Given the description of an element on the screen output the (x, y) to click on. 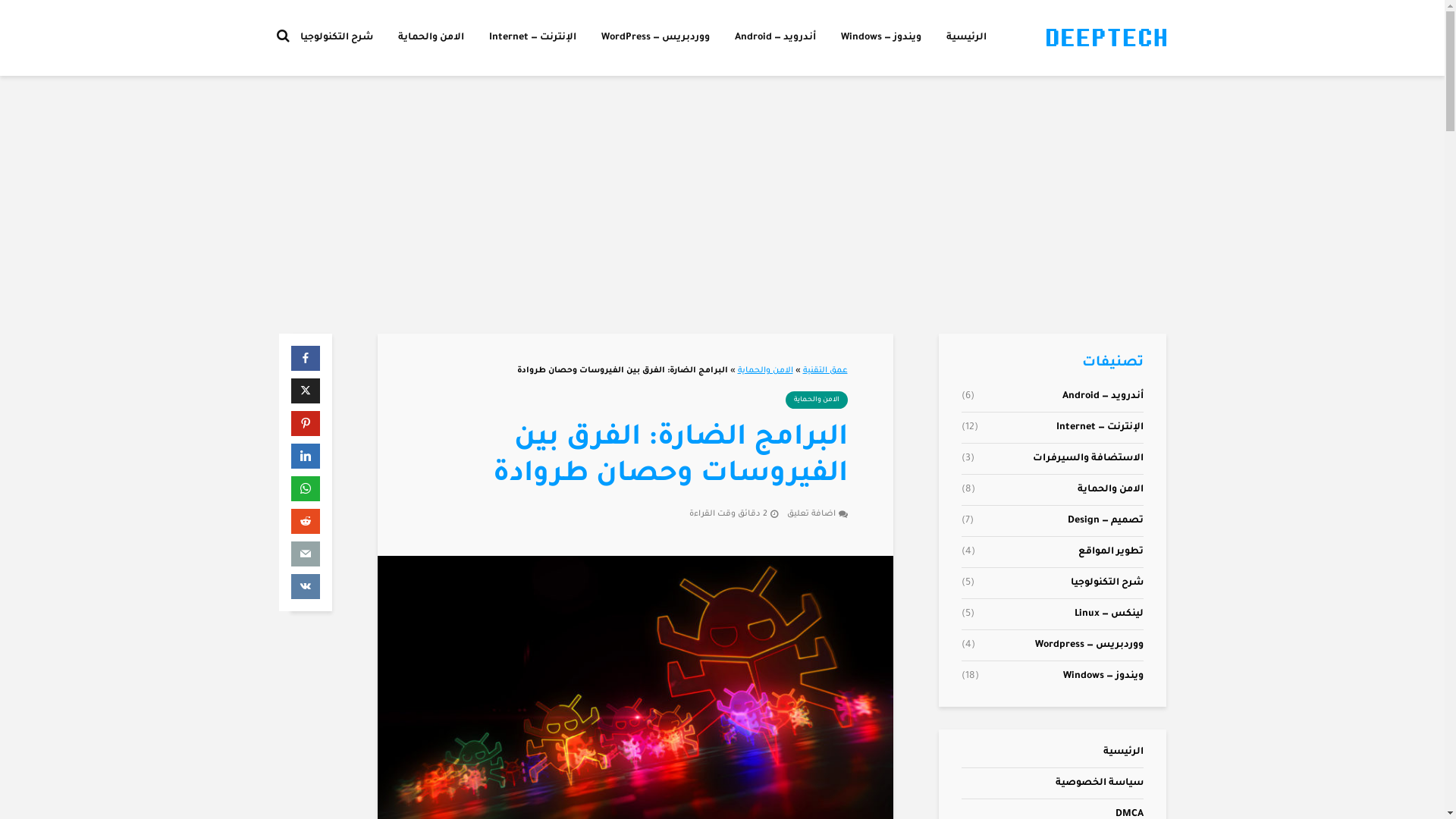
Advertisement Element type: hover (722, 204)
